Given the description of an element on the screen output the (x, y) to click on. 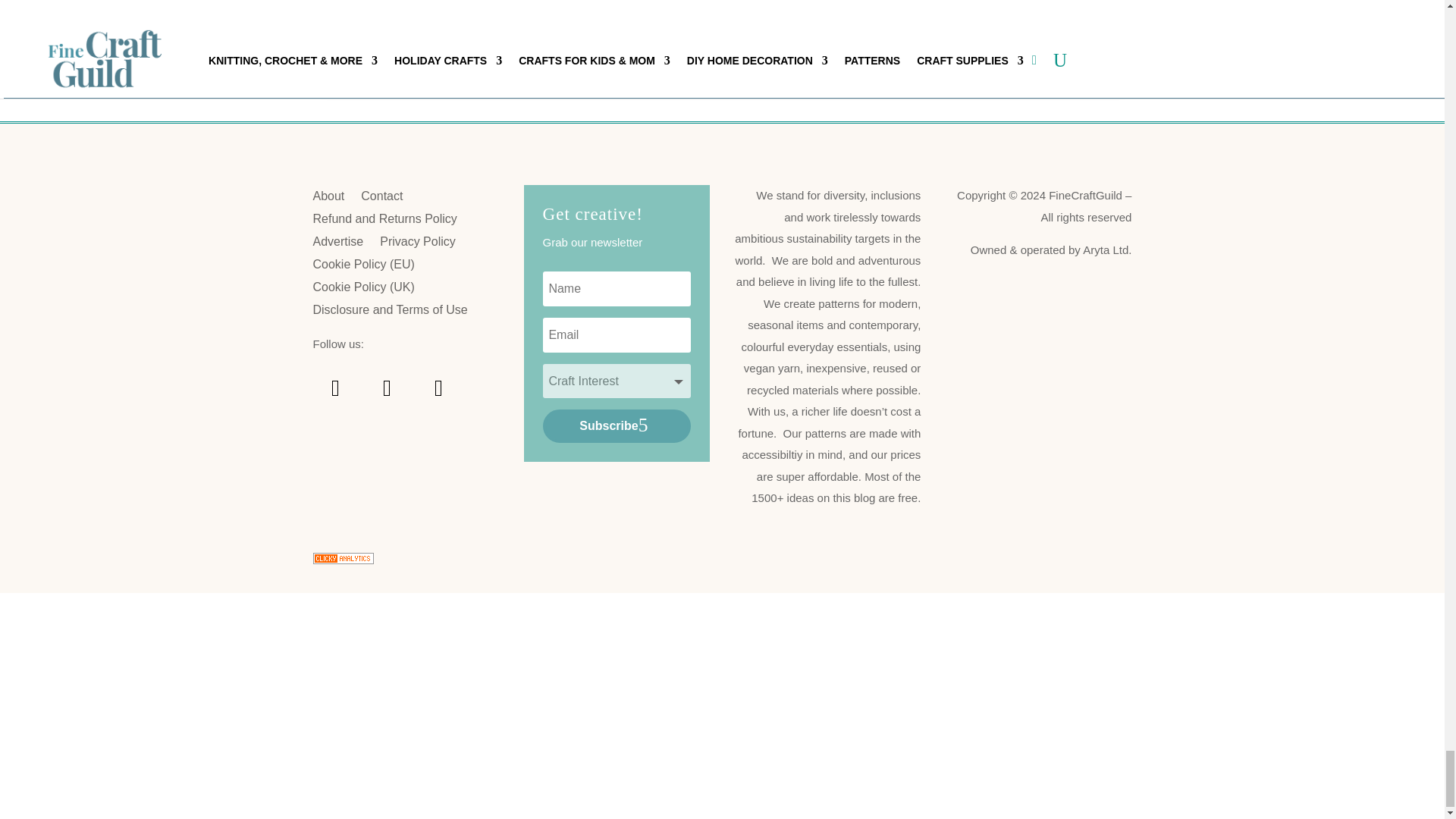
Follow on Pinterest (335, 388)
Follow on Facebook (386, 388)
Real Time Web Analytics (342, 559)
Follow on X (437, 388)
